Given the description of an element on the screen output the (x, y) to click on. 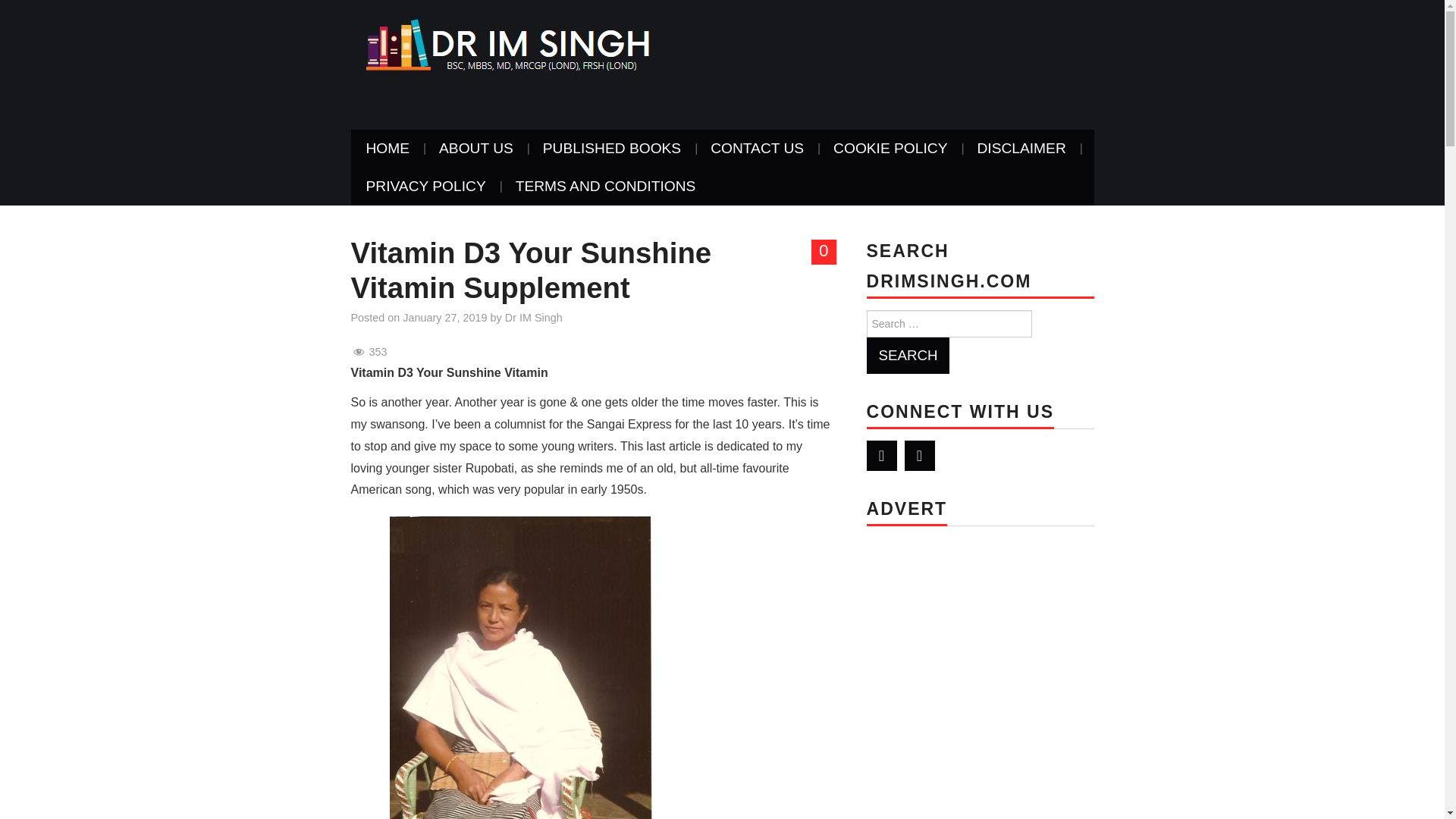
ABOUT US (475, 148)
DISCLAIMER (1020, 148)
6:24 pm (444, 317)
0 (822, 251)
COOKIE POLICY (890, 148)
Dr IM Singh (503, 43)
Search (907, 355)
Twitter (881, 455)
View all posts by Dr IM Singh (533, 317)
Search (907, 355)
